Given the description of an element on the screen output the (x, y) to click on. 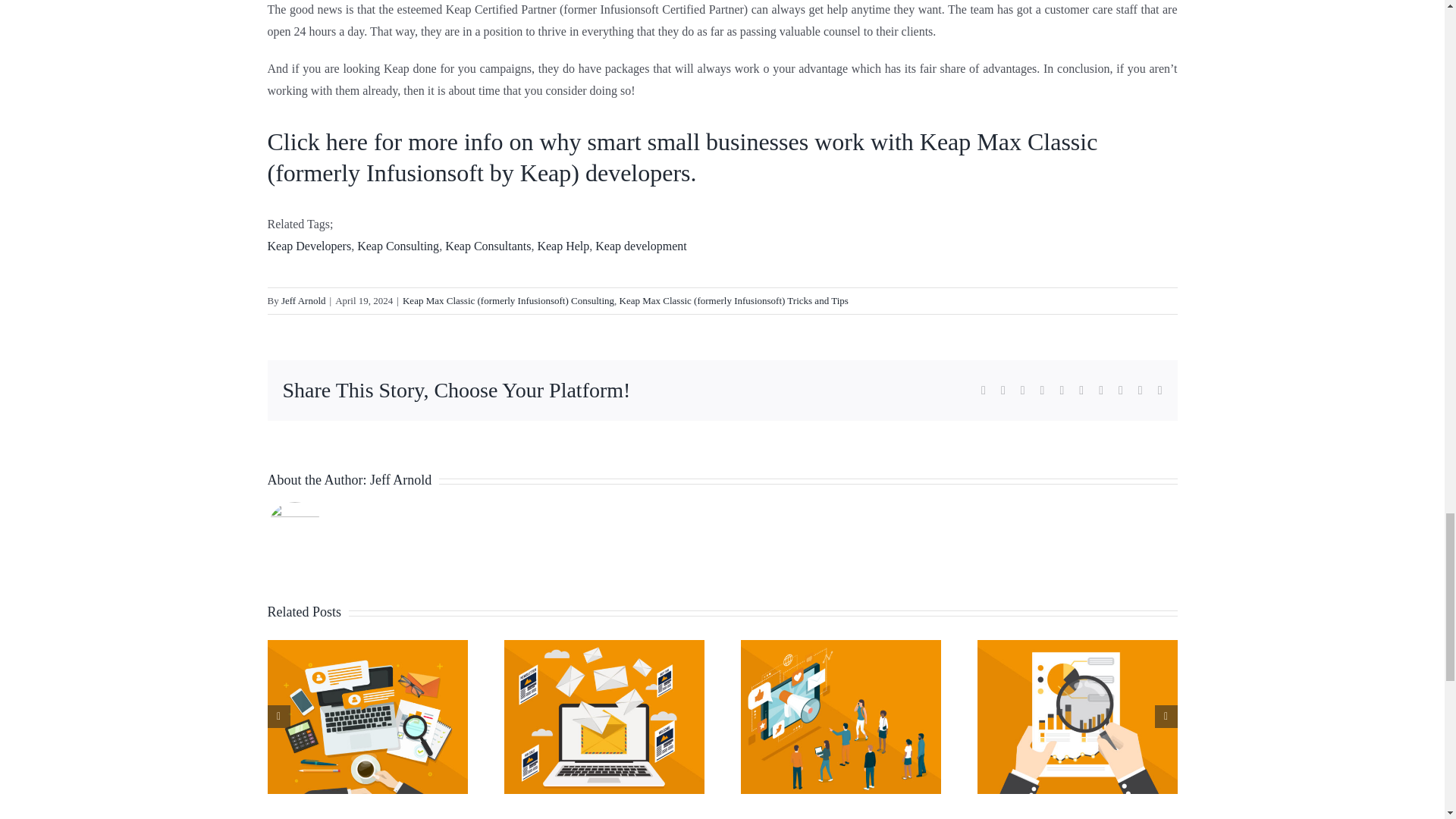
Click here (316, 141)
Keap Consultants (488, 245)
Keap Help (563, 245)
Usercentrics Consent Management Platform (503, 18)
Keap Developers (308, 245)
Keap development (640, 245)
Jeff Arnold (303, 300)
Keap Consulting (397, 245)
Posts by Jeff Arnold (303, 300)
